Given the description of an element on the screen output the (x, y) to click on. 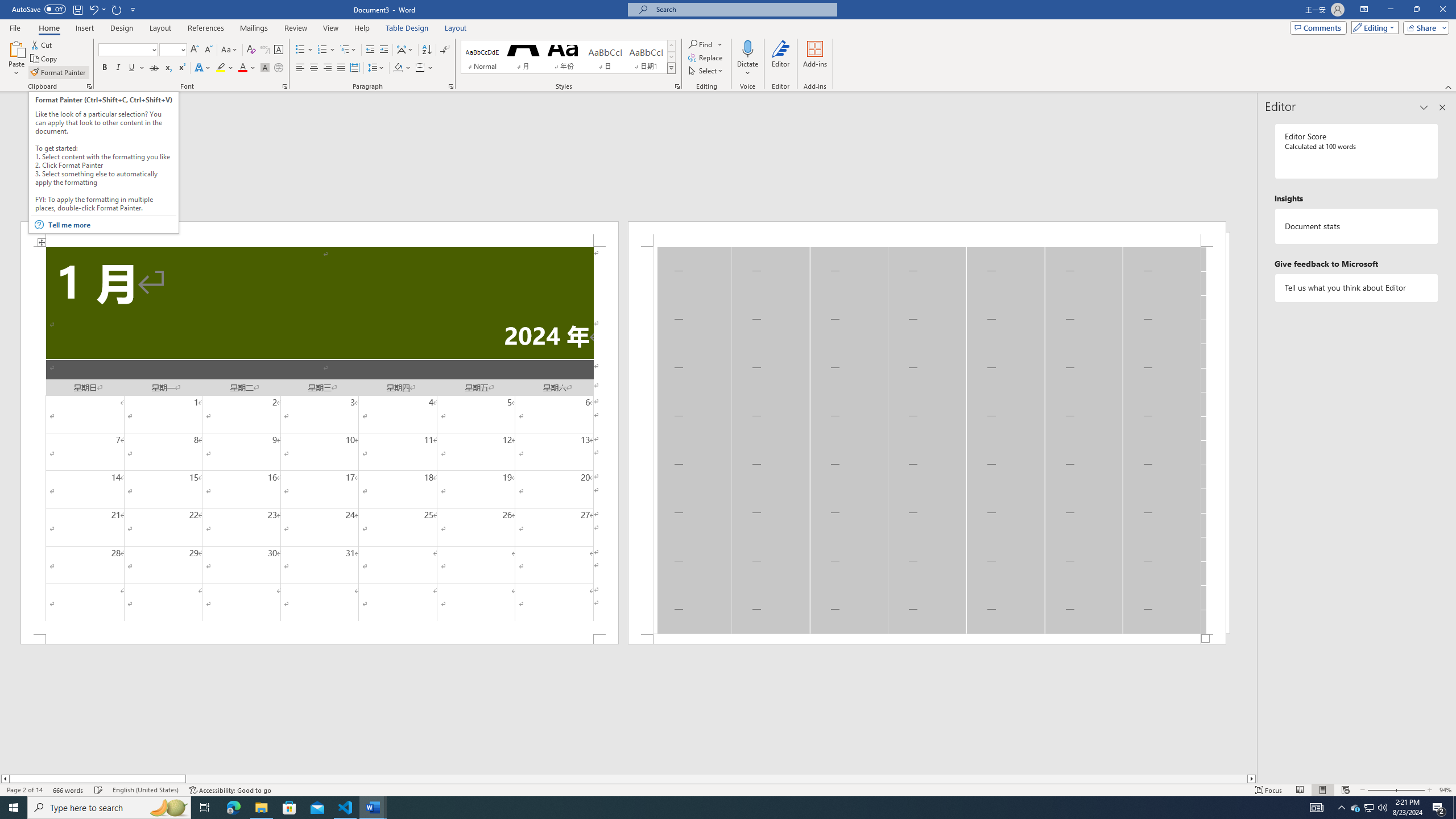
Align Left (300, 67)
Asian Layout (405, 49)
Footer -Section 1- (926, 638)
Column right (1251, 778)
Decrease Indent (370, 49)
Strikethrough (154, 67)
Character Border (278, 49)
Enclose Characters... (278, 67)
